Given the description of an element on the screen output the (x, y) to click on. 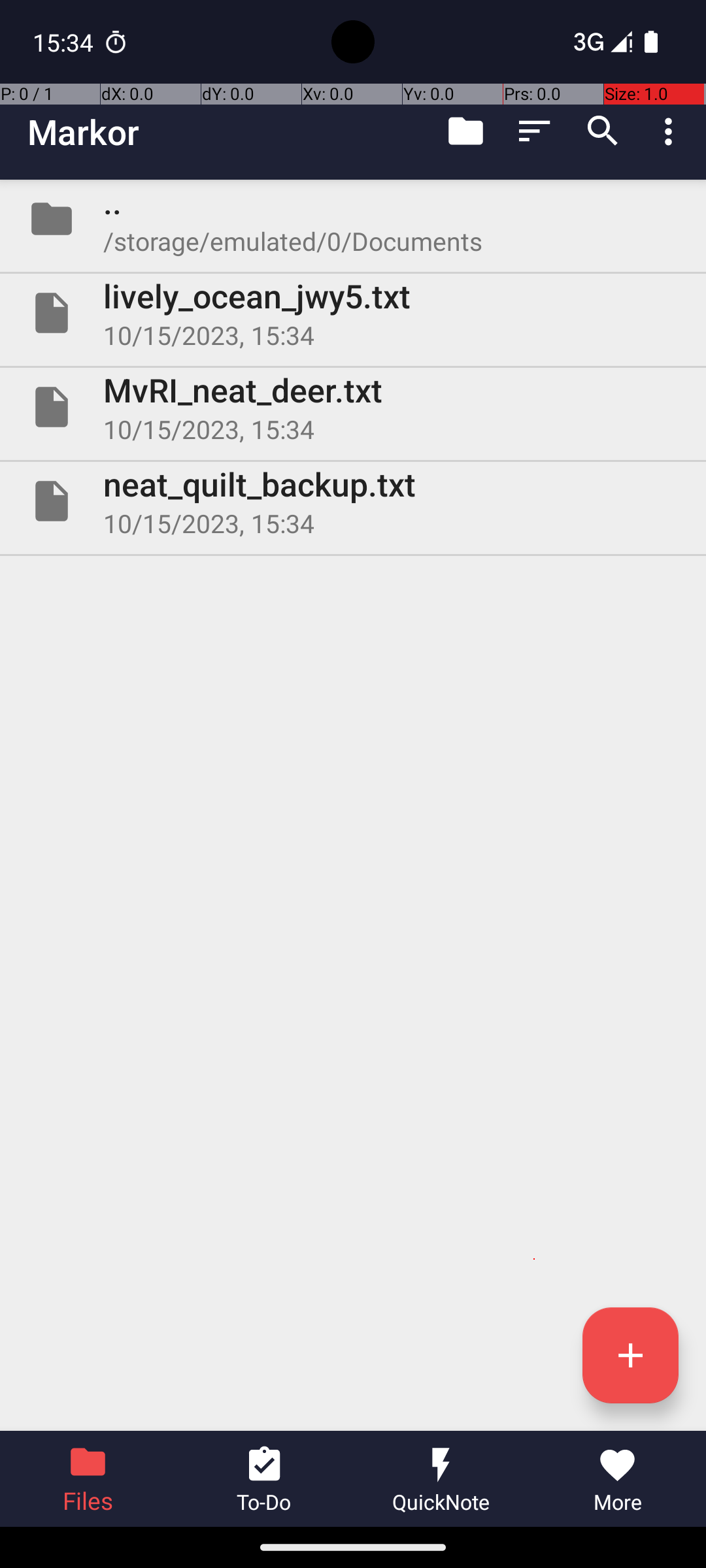
File lively_ocean_jwy5.txt  Element type: android.widget.LinearLayout (353, 312)
File MvRI_neat_deer.txt  Element type: android.widget.LinearLayout (353, 406)
File neat_quilt_backup.txt  Element type: android.widget.LinearLayout (353, 500)
